Given the description of an element on the screen output the (x, y) to click on. 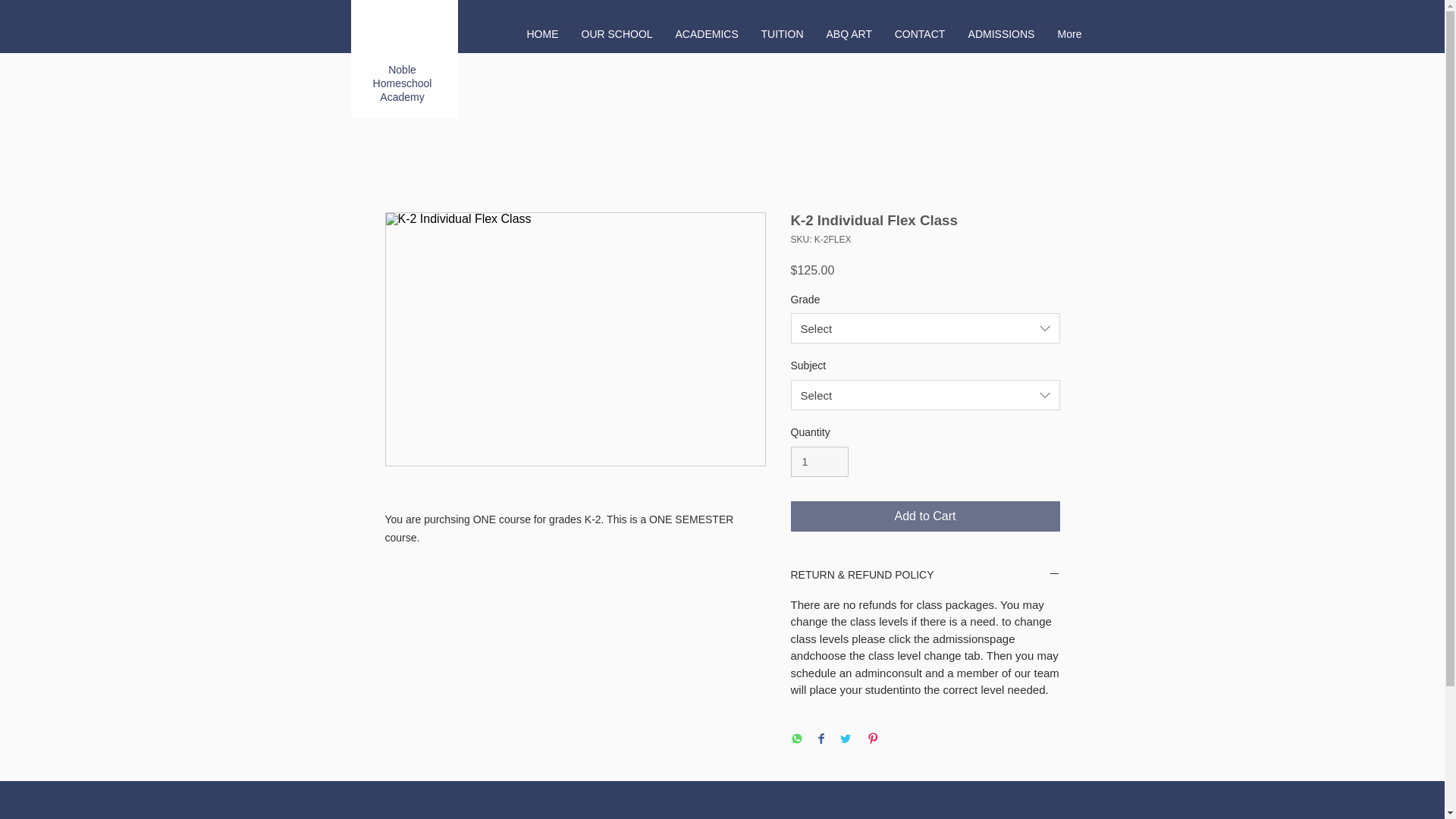
1 (818, 461)
ABQ ART (847, 34)
OUR SCHOOL (616, 34)
Select (924, 395)
CONTACT (919, 34)
HOME (542, 34)
Noble Homeschool Academy (402, 83)
Select (924, 327)
ADMISSIONS (1001, 34)
ACADEMICS (706, 34)
Add to Cart (924, 516)
TUITION (781, 34)
